Given the description of an element on the screen output the (x, y) to click on. 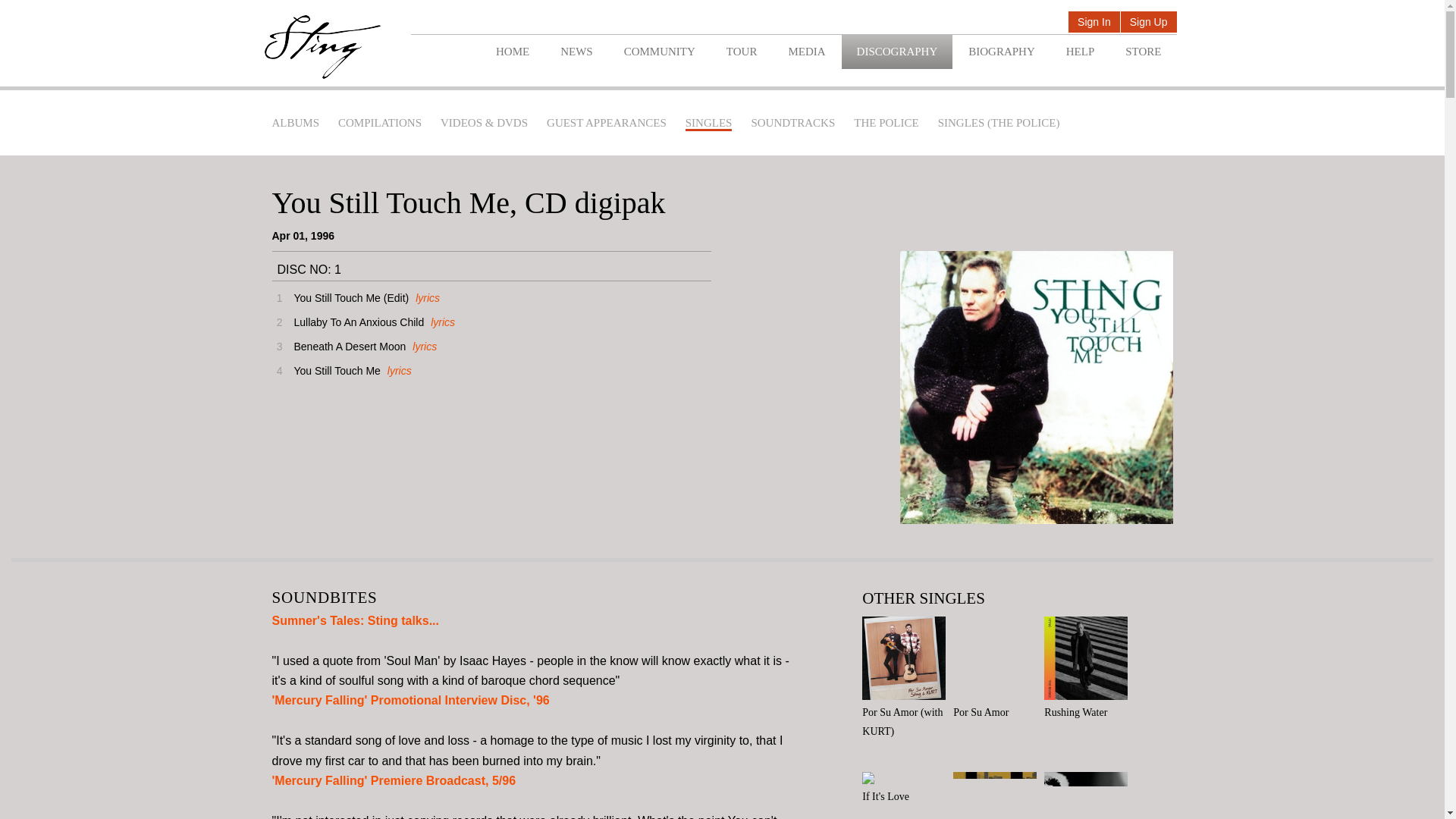
NEWS (576, 51)
GUEST APPEARANCES (606, 122)
DISCOGRAPHY (897, 51)
lyrics (422, 346)
lyrics (398, 370)
HELP (1080, 51)
Sign In (1093, 22)
lyrics (440, 322)
COMMUNITY (659, 51)
COMPILATIONS (379, 122)
lyrics (425, 297)
Sign Up (1148, 22)
TOUR (742, 51)
STORE (1142, 51)
MEDIA (806, 51)
